Given the description of an element on the screen output the (x, y) to click on. 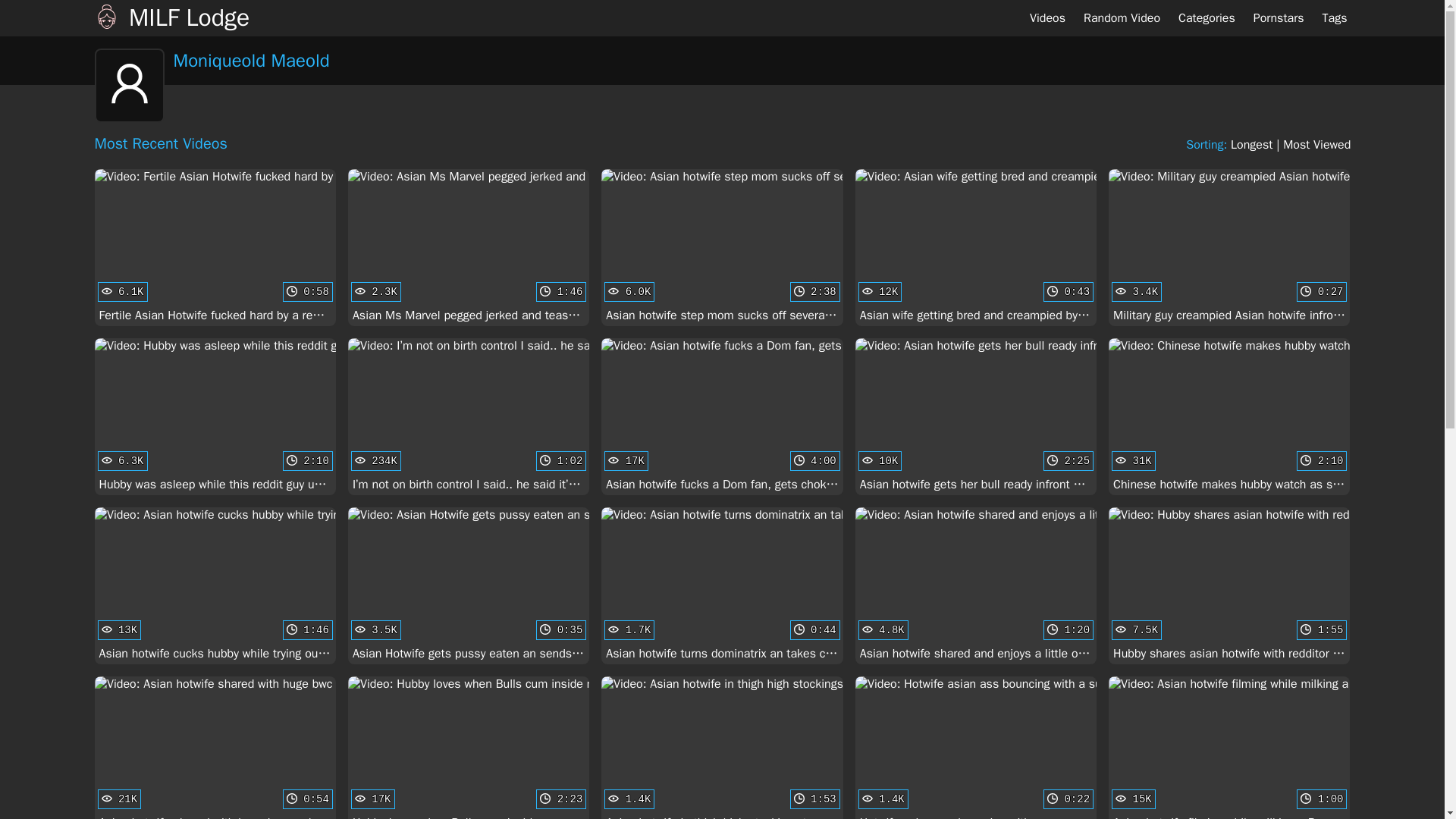
Hubby shares asian hotwife with redditor bull bareback (976, 416)
Tags (1228, 585)
Longest (1334, 18)
MILF Lodge (1251, 144)
